Given the description of an element on the screen output the (x, y) to click on. 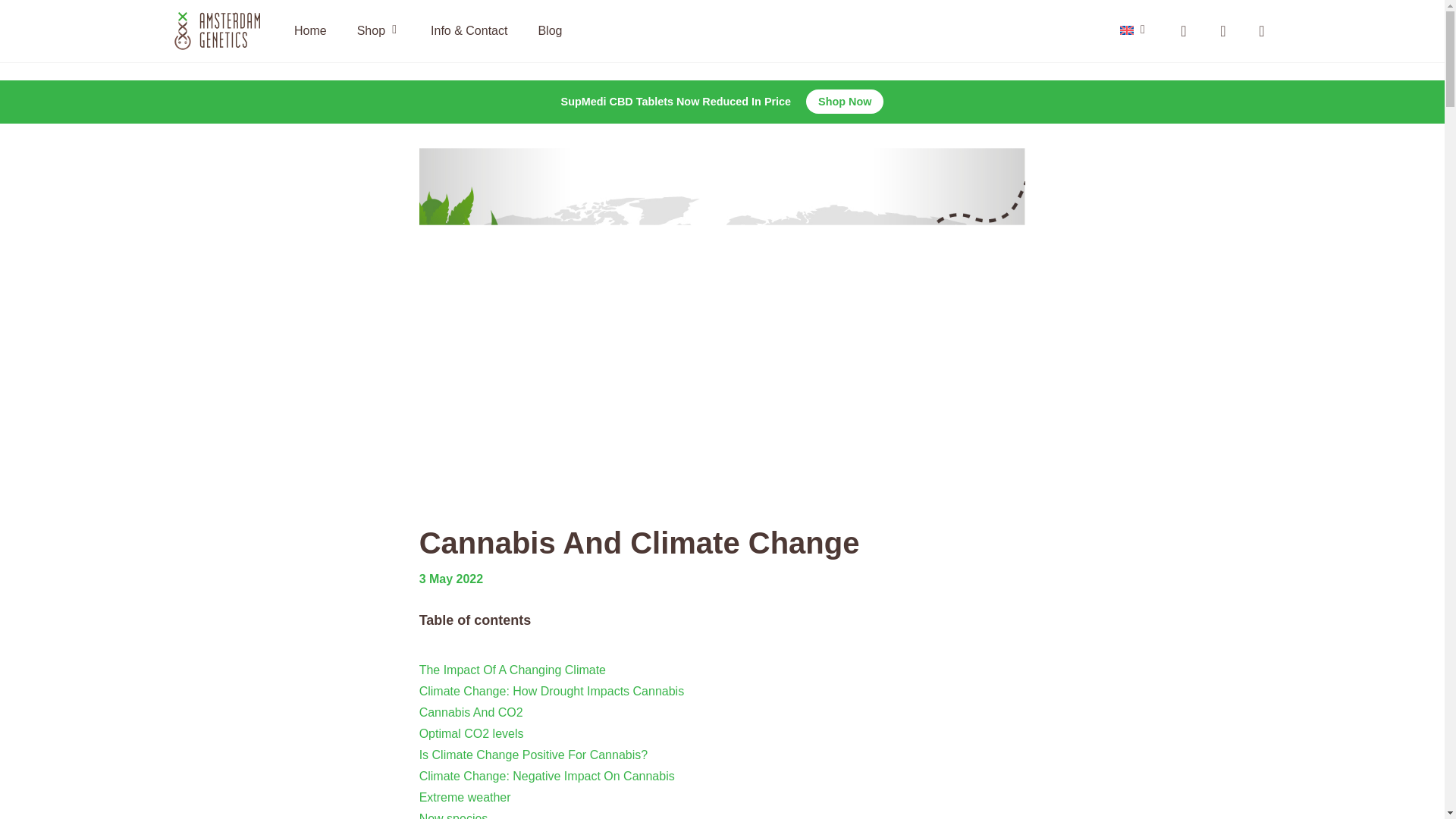
Extreme weather (465, 797)
New species (453, 815)
Optimal CO2 levels (471, 733)
Is Climate Change Positive For Cannabis? (533, 754)
Shop (378, 31)
Climate Change: How Drought Impacts Cannabis (551, 690)
Cannabis And CO2 (470, 712)
The Impact Of A Changing Climate (512, 669)
Home (310, 30)
Climate Change: Negative Impact On Cannabis (547, 775)
